Given the description of an element on the screen output the (x, y) to click on. 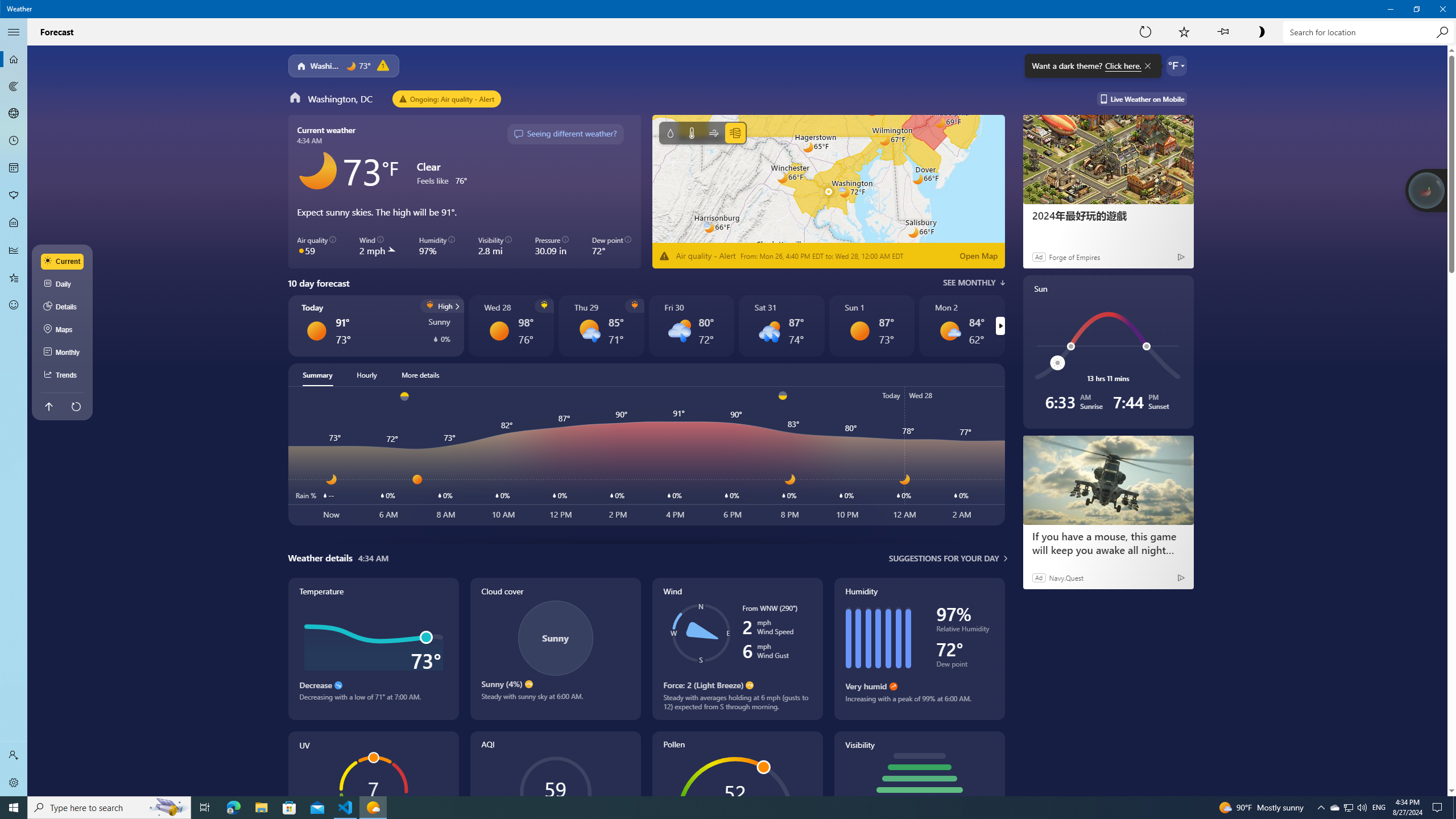
Weather - 1 running window (373, 807)
Maps - Not Selected (13, 85)
Restore Weather (1416, 9)
Monthly Forecast - Not Selected (13, 167)
3D Maps - Not Selected (13, 113)
